Given the description of an element on the screen output the (x, y) to click on. 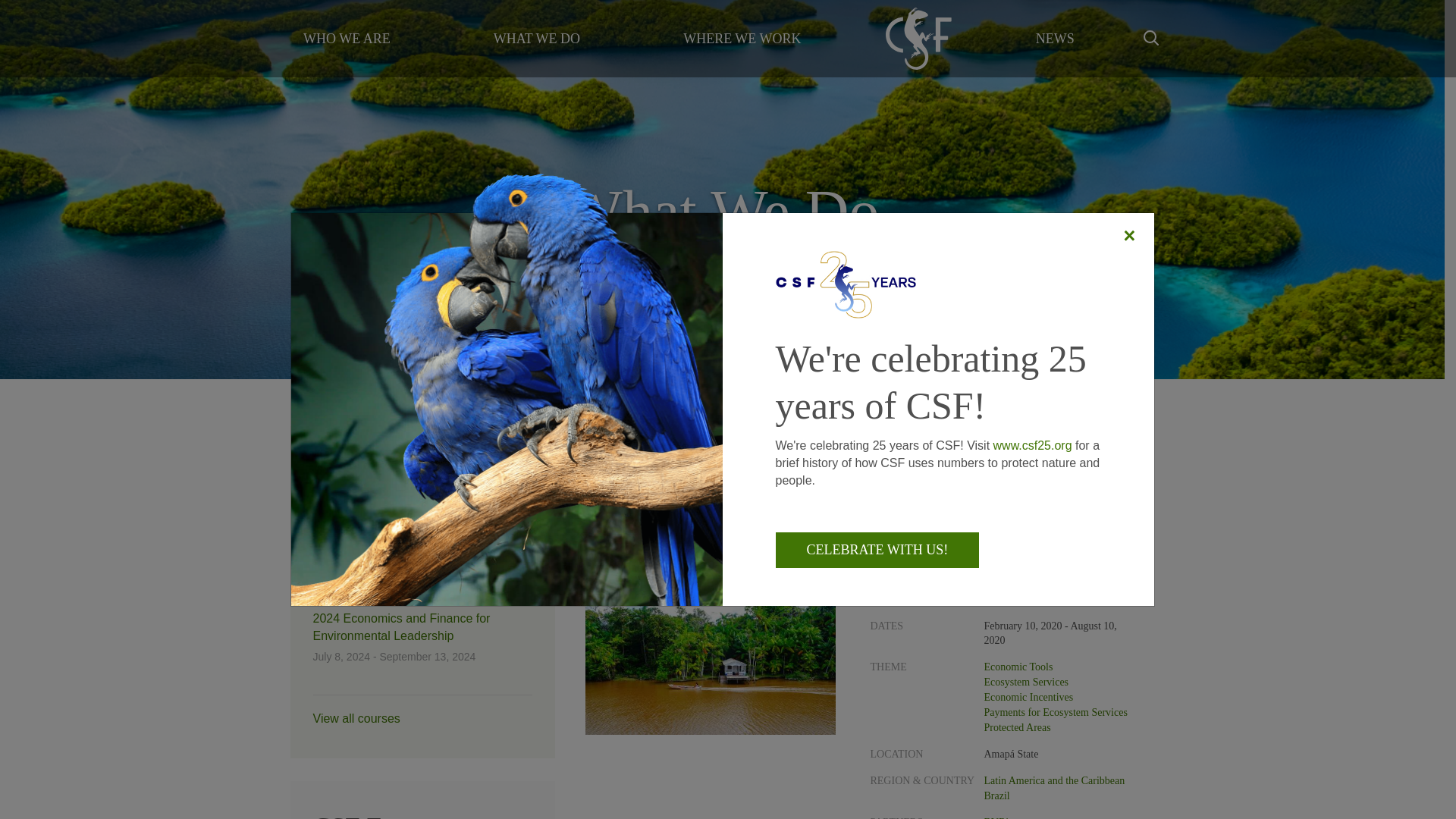
WHAT WE DO (536, 38)
WHERE WE WORK (741, 38)
WHO WE ARE (346, 38)
